Given the description of an element on the screen output the (x, y) to click on. 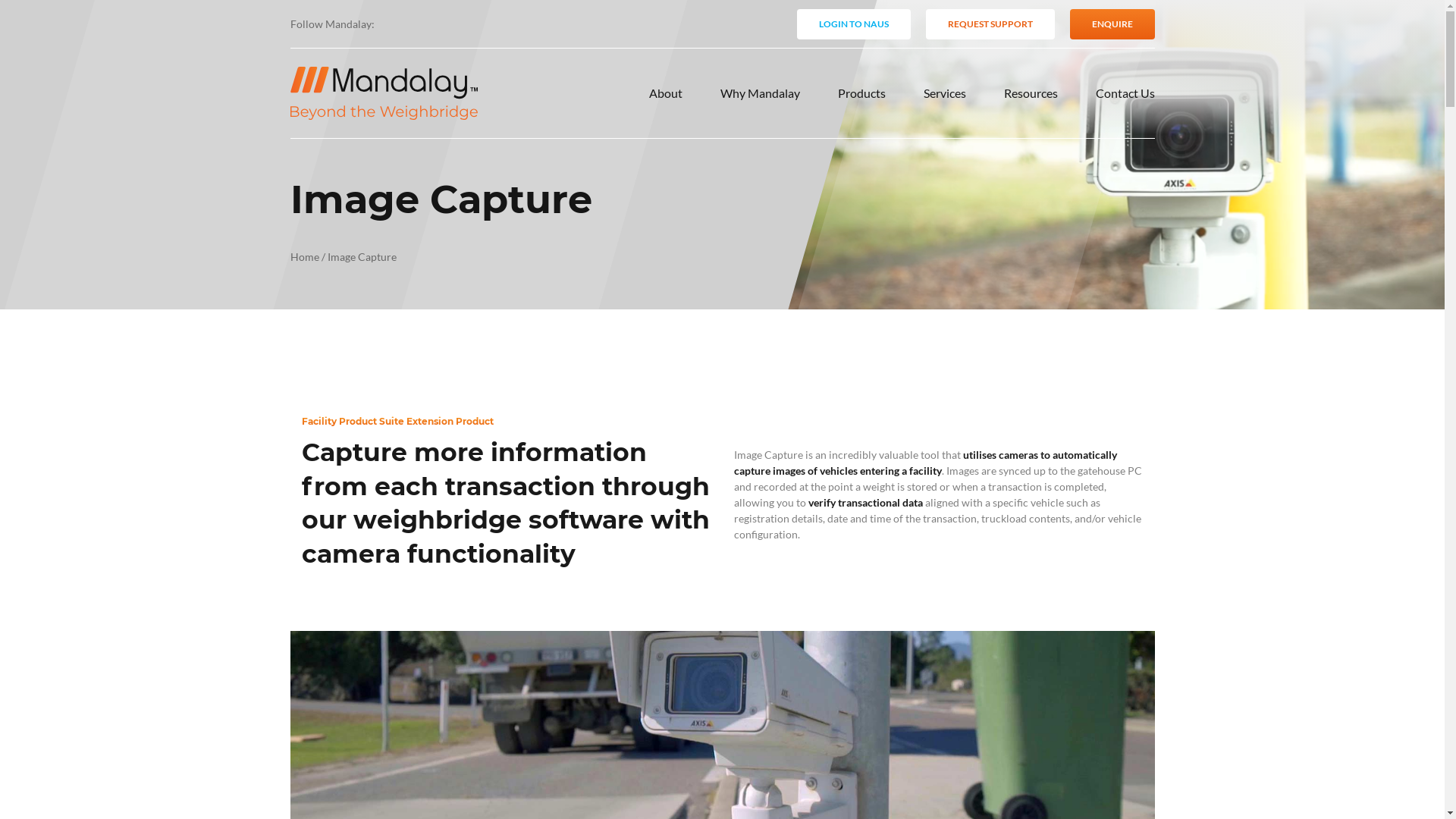
Services Element type: text (944, 92)
About Element type: text (665, 92)
ENQUIRE Element type: text (1111, 24)
LOGIN TO NAUS Element type: text (853, 24)
Home Element type: text (303, 256)
Contact Us Element type: text (1124, 92)
REQUEST SUPPORT Element type: text (989, 24)
Why Mandalay Element type: text (760, 92)
Mandalay Technologies Element type: hover (383, 92)
Resources Element type: text (1030, 92)
Products Element type: text (860, 92)
